Given the description of an element on the screen output the (x, y) to click on. 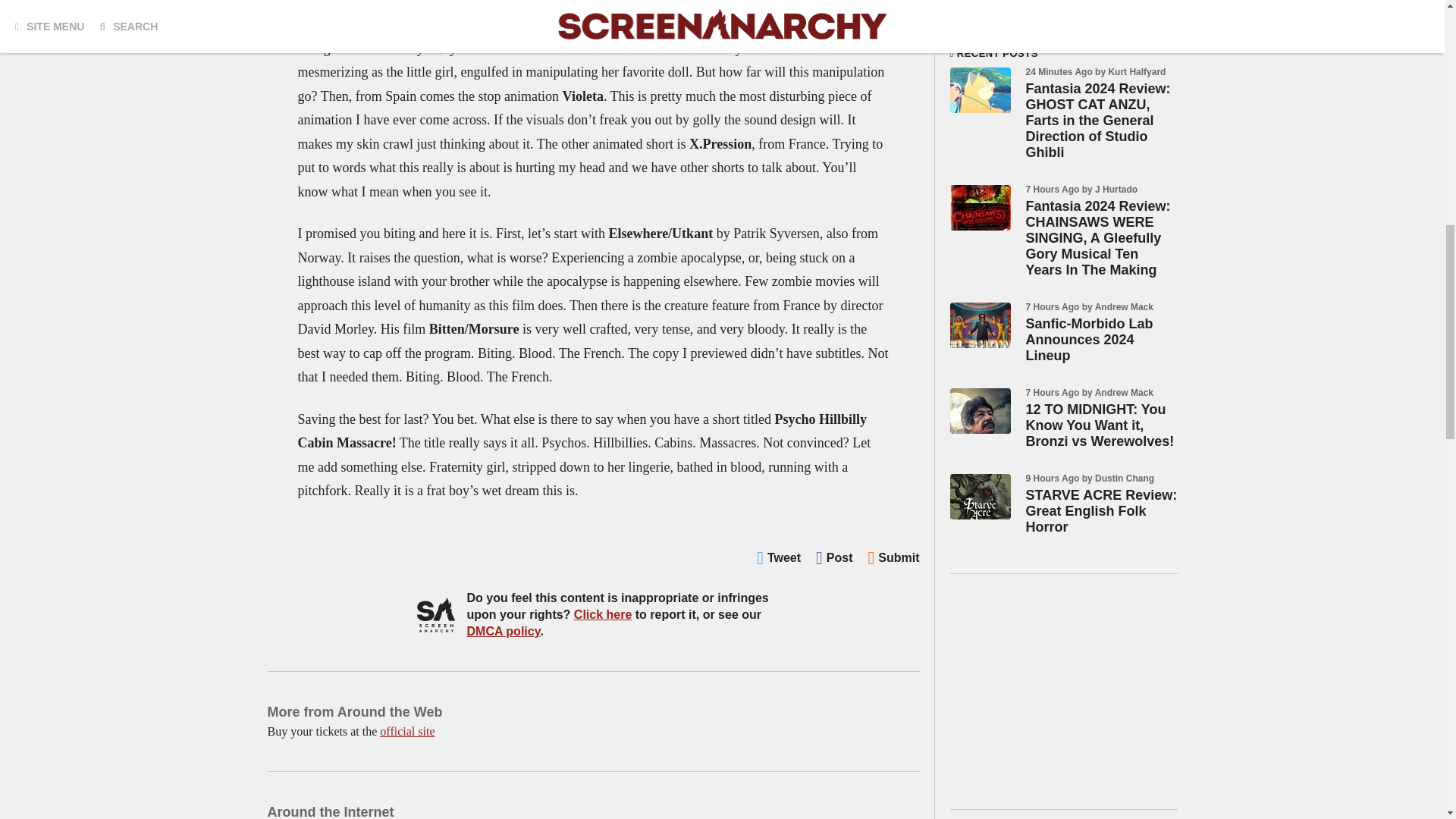
official site (406, 730)
